Given the description of an element on the screen output the (x, y) to click on. 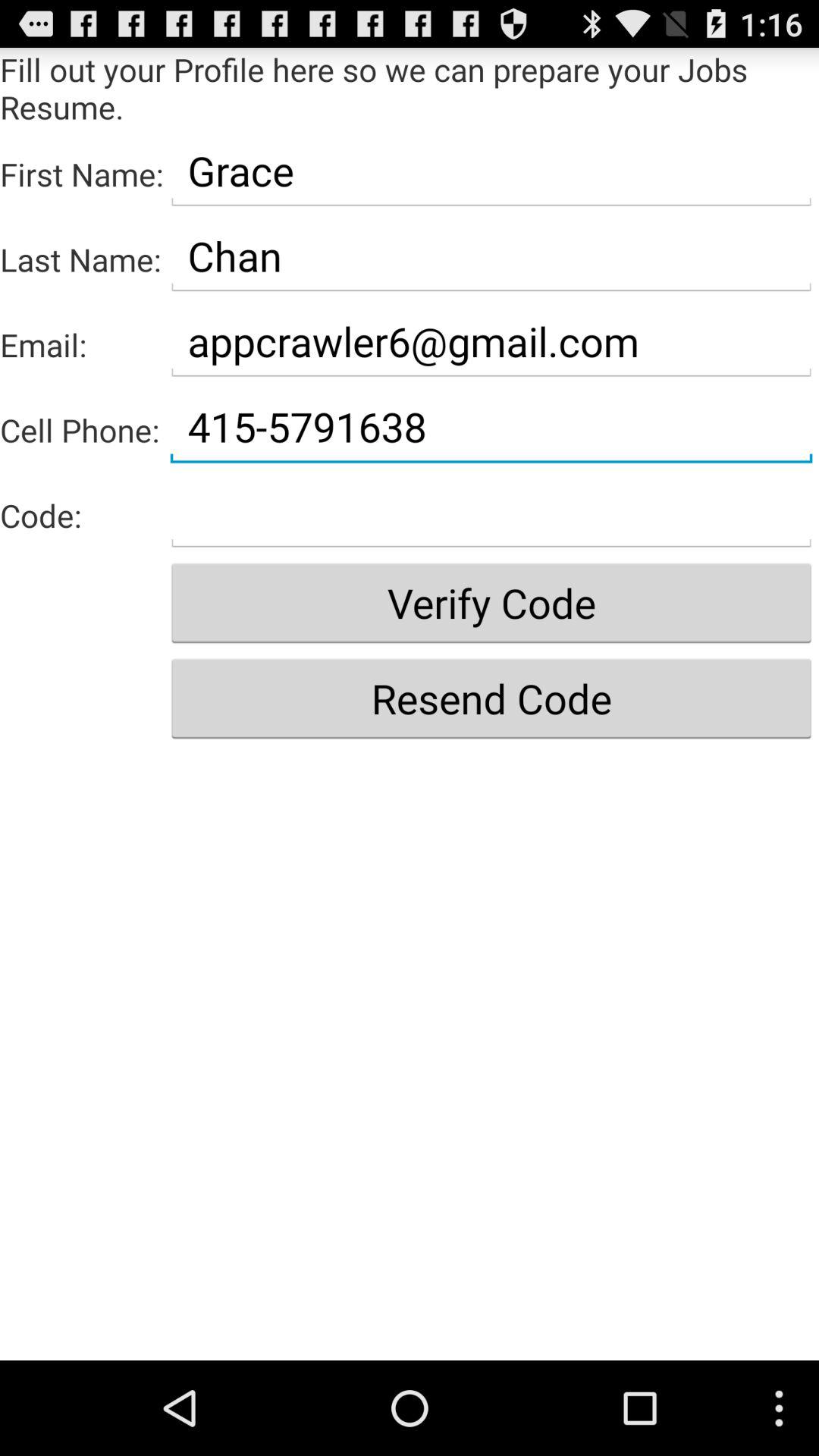
type in code (491, 512)
